Given the description of an element on the screen output the (x, y) to click on. 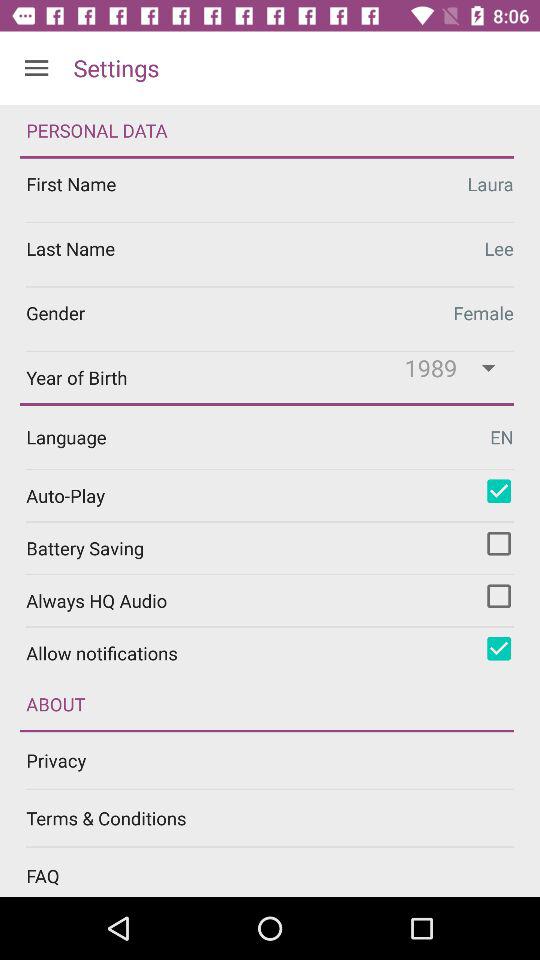
tap icon next to allow notifications item (499, 648)
